Given the description of an element on the screen output the (x, y) to click on. 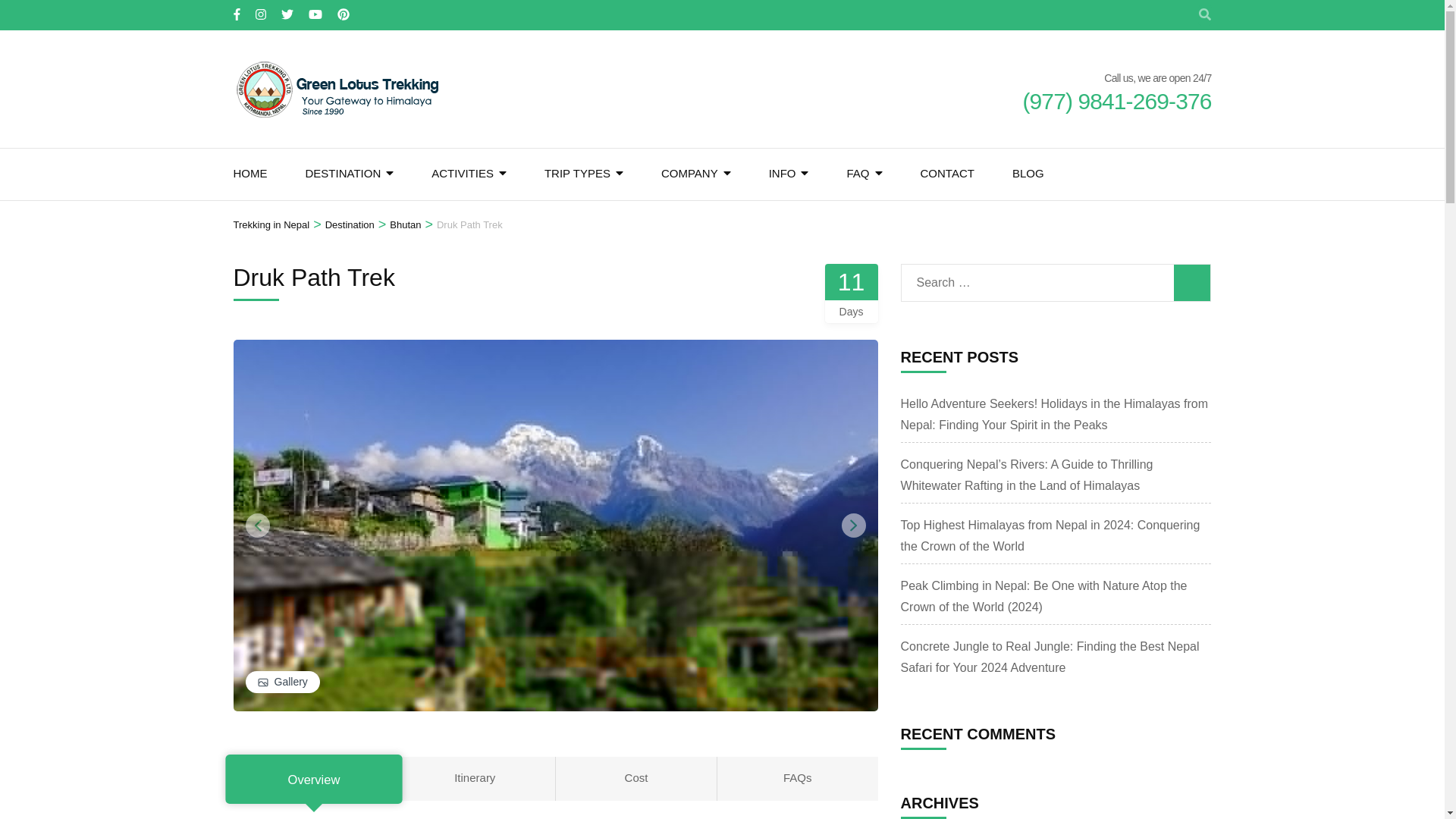
Search (1191, 282)
Search (1191, 282)
